Given the description of an element on the screen output the (x, y) to click on. 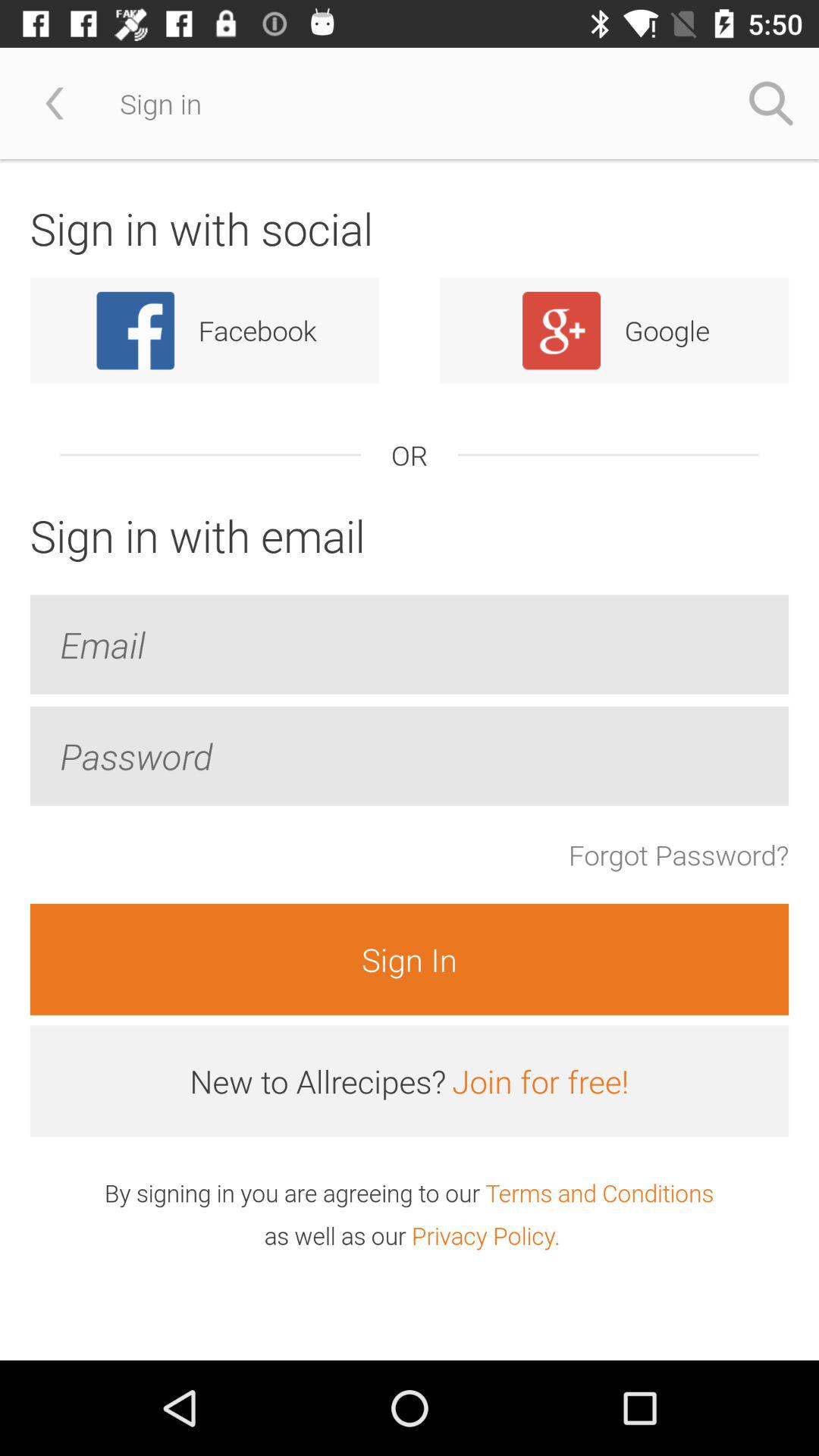
open item to the right of the by signing in item (599, 1192)
